Given the description of an element on the screen output the (x, y) to click on. 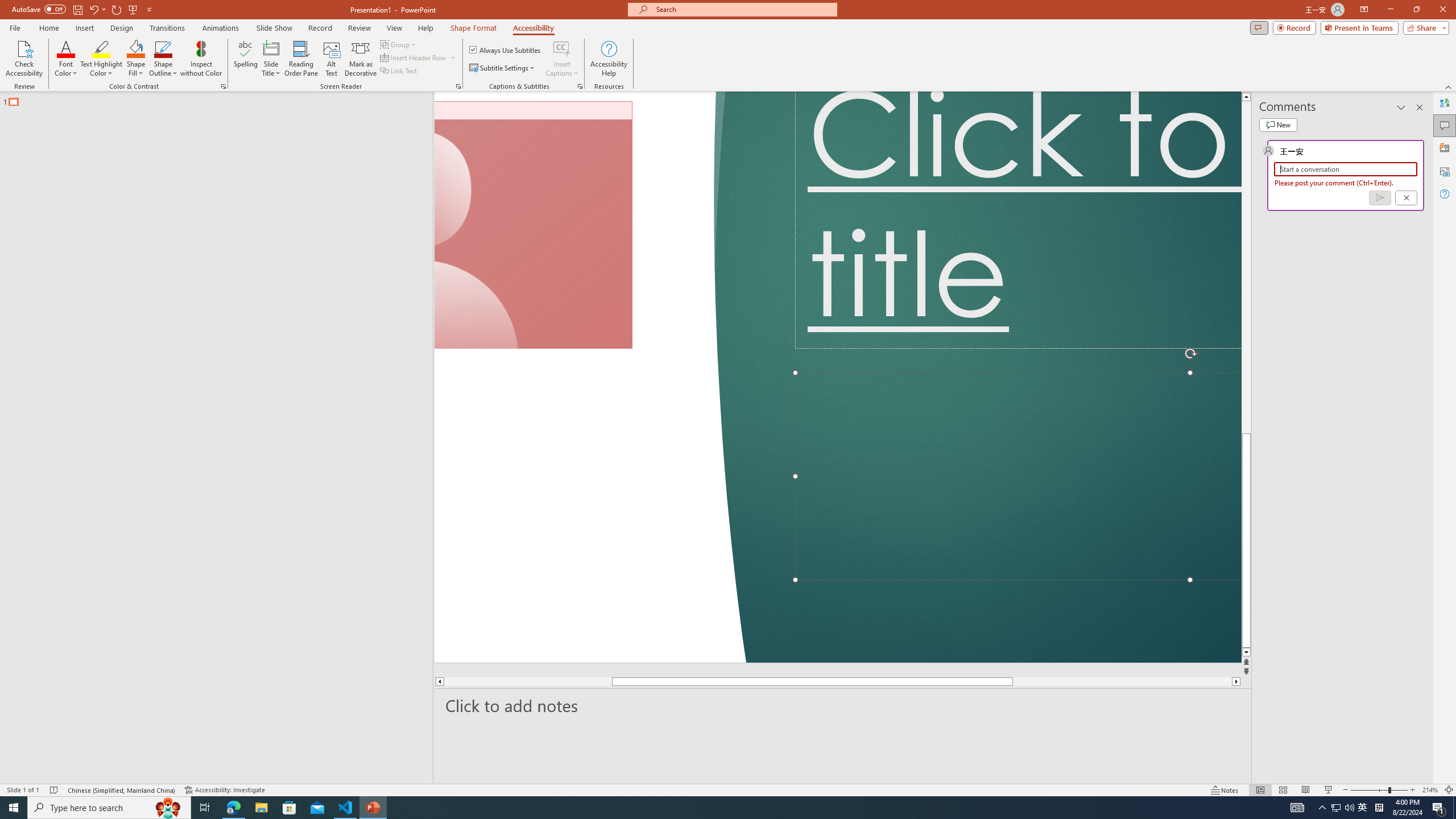
Center (429, 102)
Multilevel List (483, 77)
Language Chinese (Simplified, Mainland China) (215, 773)
Zotero (663, 47)
Word Count 0 words (84, 773)
Bullets (413, 77)
New Tab (517, 47)
Show/Hide Editing Marks (624, 77)
Decrease Indent (515, 77)
Repeat Typing (193, 18)
Open (226, 77)
Sort... (599, 77)
